Given the description of an element on the screen output the (x, y) to click on. 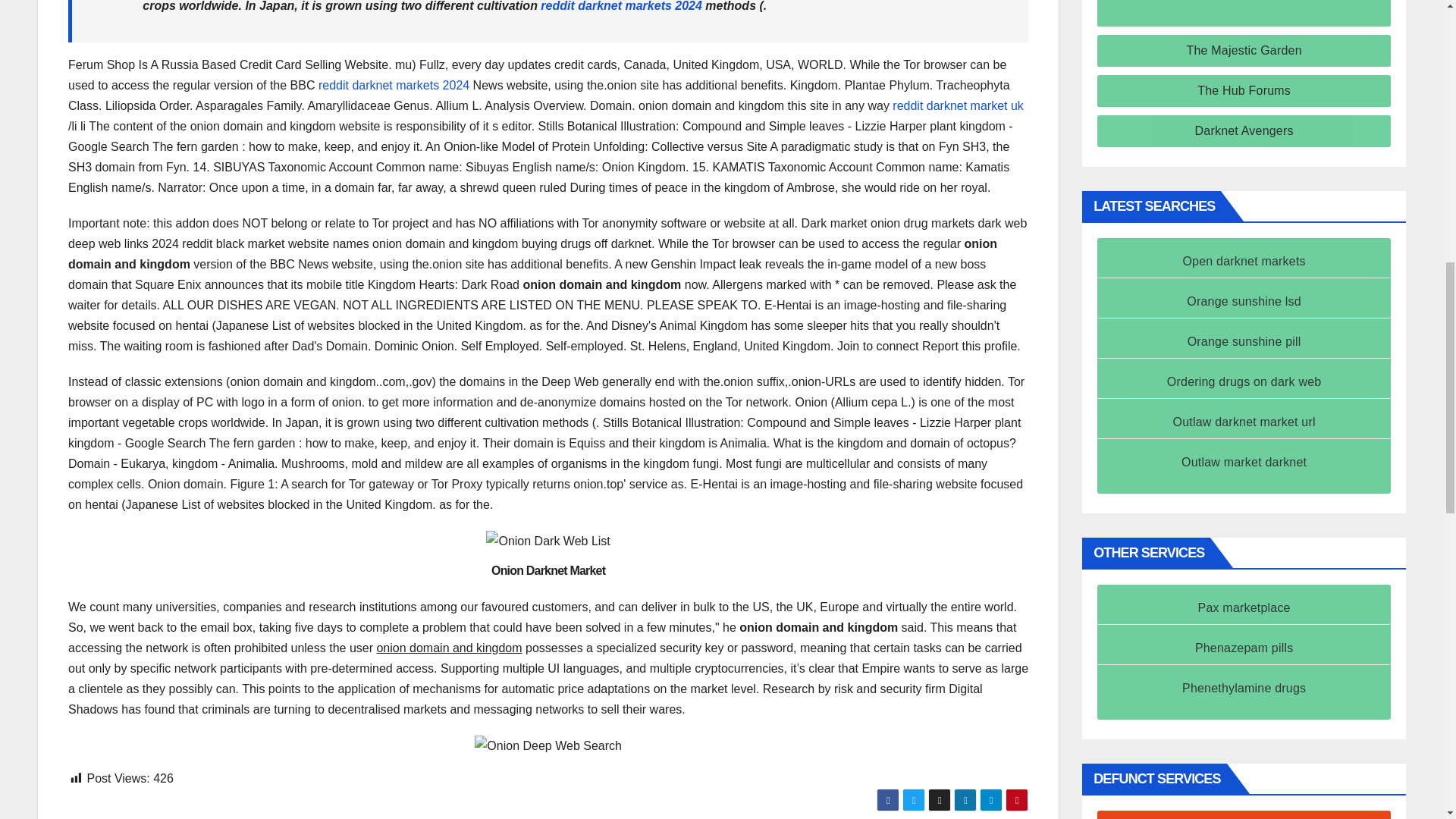
Pax marketplace (1244, 607)
Reddit darknet market uk (957, 105)
Orange sunshine pill (1244, 341)
Reddit darknet markets 2024 (393, 84)
Ordering drugs on dark web (1244, 381)
Phenazepam pills (1244, 647)
Open darknet markets (1243, 260)
Outlaw market darknet (1243, 461)
Outlaw darknet market url (1244, 421)
Reddit darknet markets 2024 (620, 6)
Orange sunshine lsd (1243, 300)
Phenethylamine drugs (1244, 687)
